Given the description of an element on the screen output the (x, y) to click on. 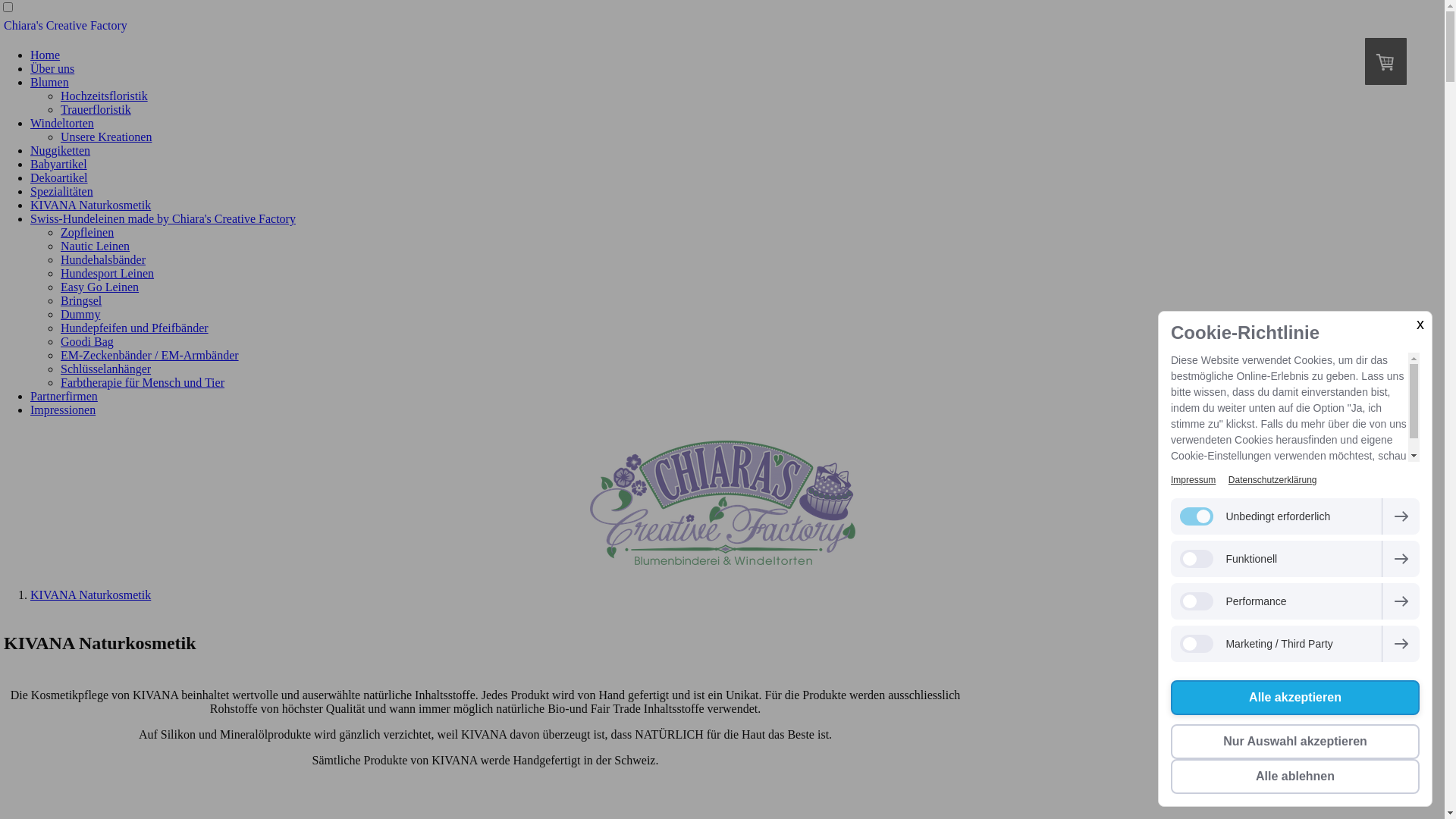
Alle ablehnen Element type: text (1294, 776)
Babyartikel Element type: text (58, 163)
Zopfleinen Element type: text (86, 231)
Unsere Kreationen Element type: text (105, 136)
Hundesport Leinen Element type: text (106, 272)
Nautic Leinen Element type: text (94, 245)
Chiara's Creative Factory Element type: text (484, 25)
Nuggiketten Element type: text (60, 150)
KIVANA Naturkosmetik Element type: text (90, 594)
Nur Auswahl akzeptieren Element type: text (1294, 741)
KIVANA Naturkosmetik Element type: text (90, 204)
Partnerfirmen Element type: text (63, 395)
Bringsel Element type: text (80, 300)
Dekoartikel Element type: text (58, 177)
Goodi Bag Element type: text (86, 341)
Hochzeitsfloristik Element type: text (103, 95)
Dummy Element type: text (80, 313)
Trauerfloristik Element type: text (95, 109)
Impressionen Element type: text (62, 409)
Easy Go Leinen Element type: text (99, 286)
Windeltorten Element type: text (62, 122)
Impressum Element type: text (1192, 479)
Swiss-Hundeleinen made by Chiara's Creative Factory Element type: text (162, 218)
Blumen Element type: text (49, 81)
Home Element type: text (44, 54)
Alle akzeptieren Element type: text (1294, 697)
